Given the description of an element on the screen output the (x, y) to click on. 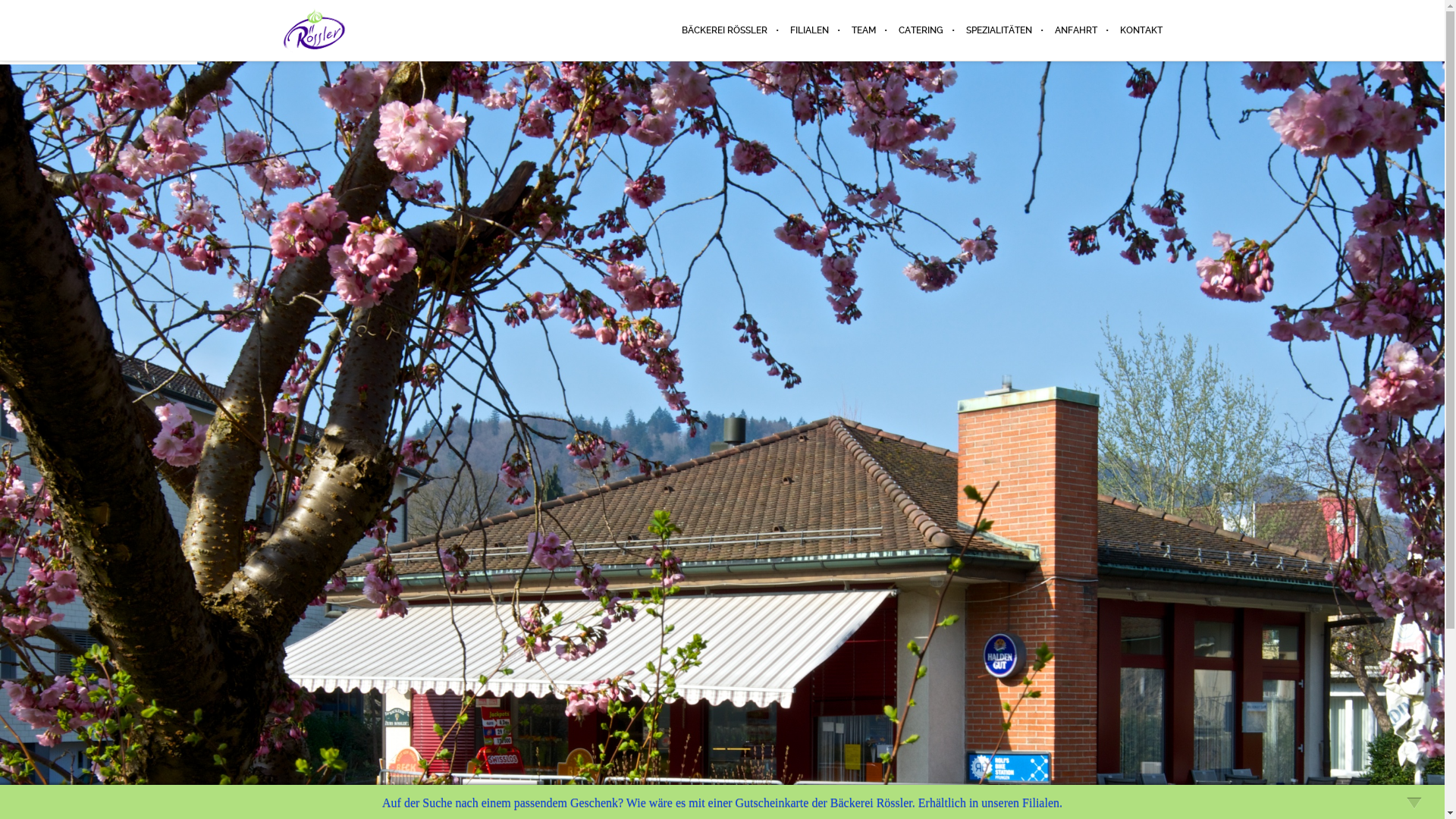
TEAM Element type: text (863, 30)
FILIALEN Element type: text (808, 30)
CATERING Element type: text (920, 30)
ANFAHRT Element type: text (1075, 30)
KONTAKT Element type: text (1135, 30)
